Given the description of an element on the screen output the (x, y) to click on. 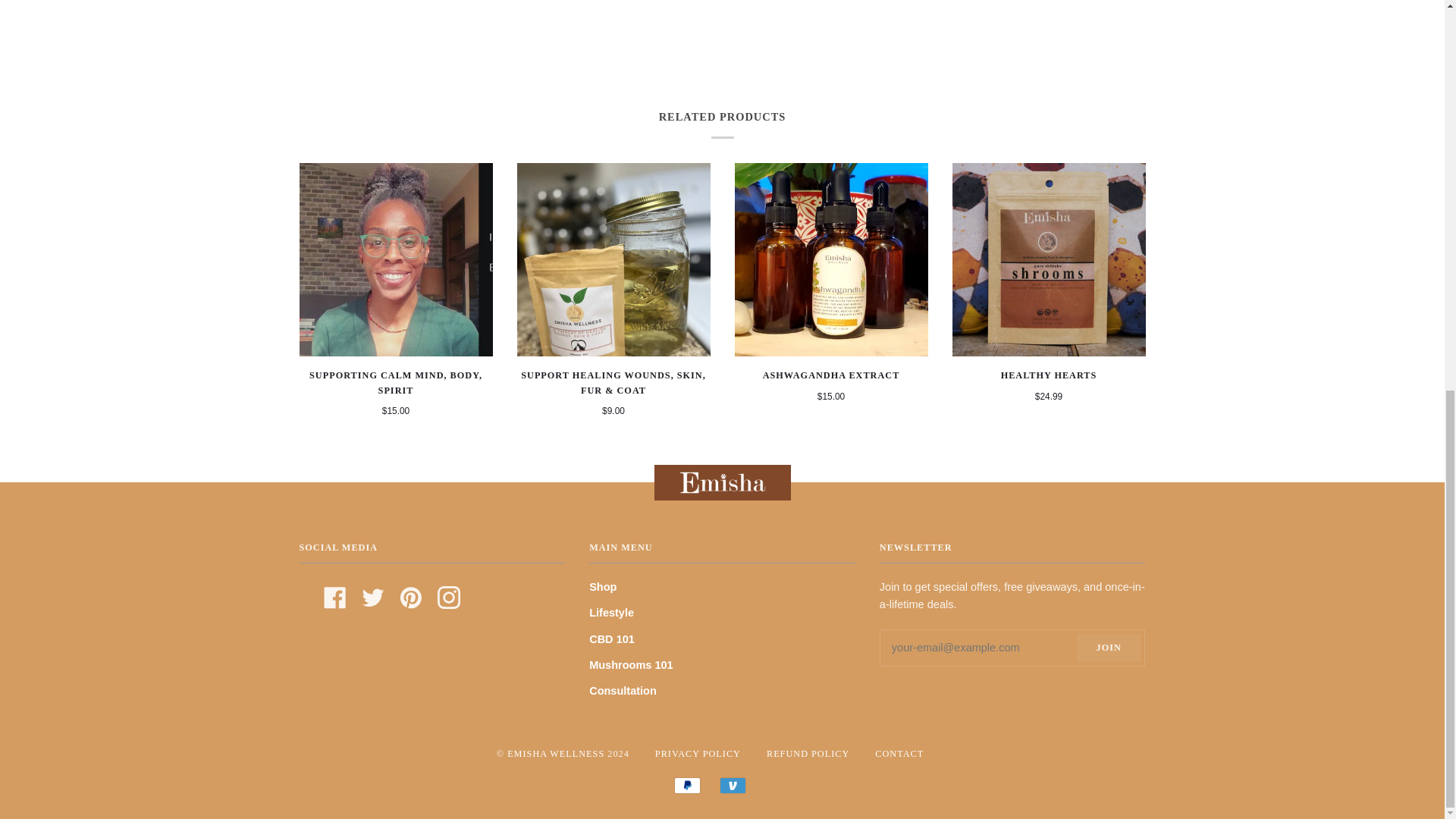
Instagram (449, 596)
Pinterest (410, 596)
Facebook (334, 596)
VENMO (732, 785)
Twitter (372, 596)
PAYPAL (687, 785)
